Given the description of an element on the screen output the (x, y) to click on. 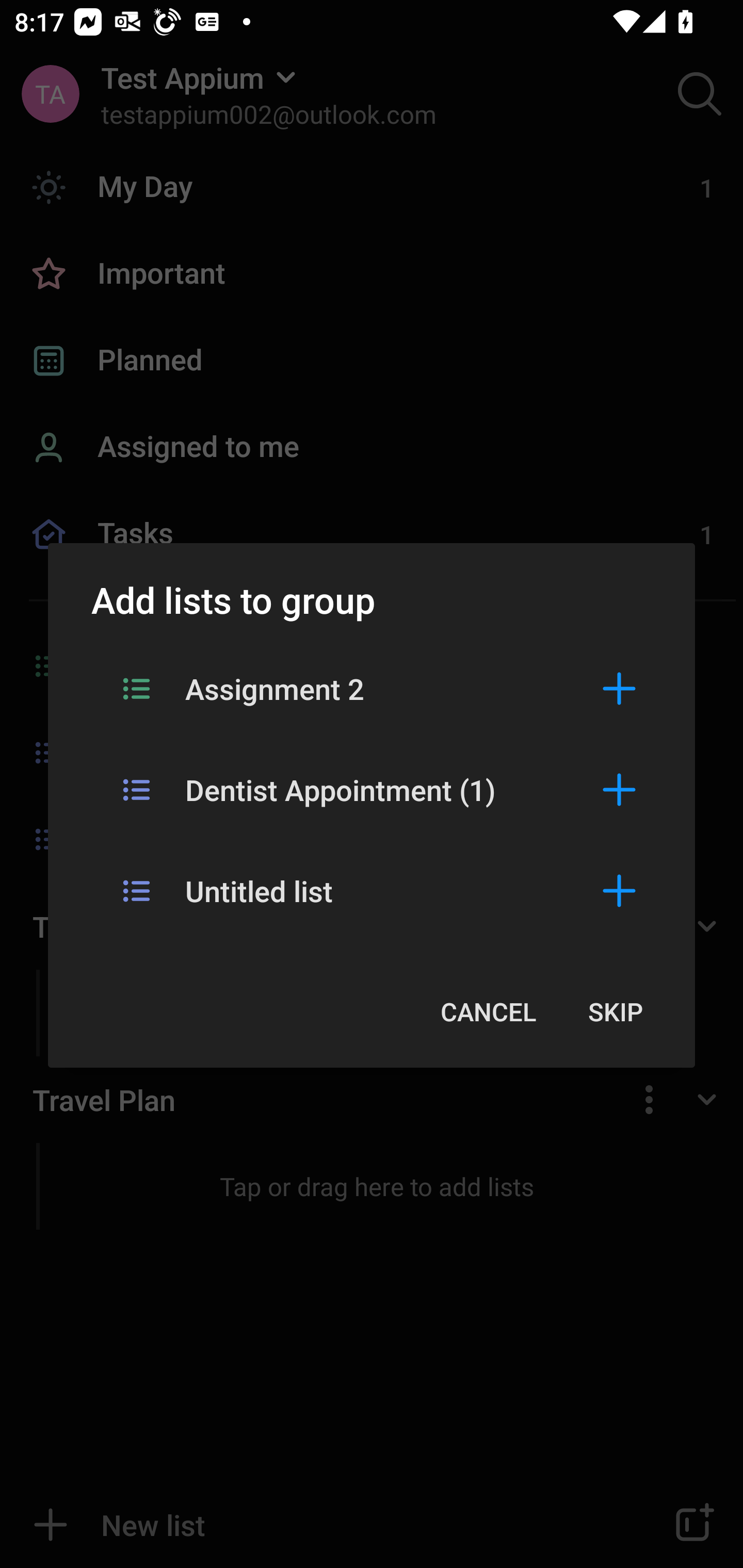
Assignment 2 (371, 688)
Dentist Appointment (1) (371, 789)
Untitled list (371, 890)
CANCEL (488, 1010)
SKIP (615, 1010)
